Given the description of an element on the screen output the (x, y) to click on. 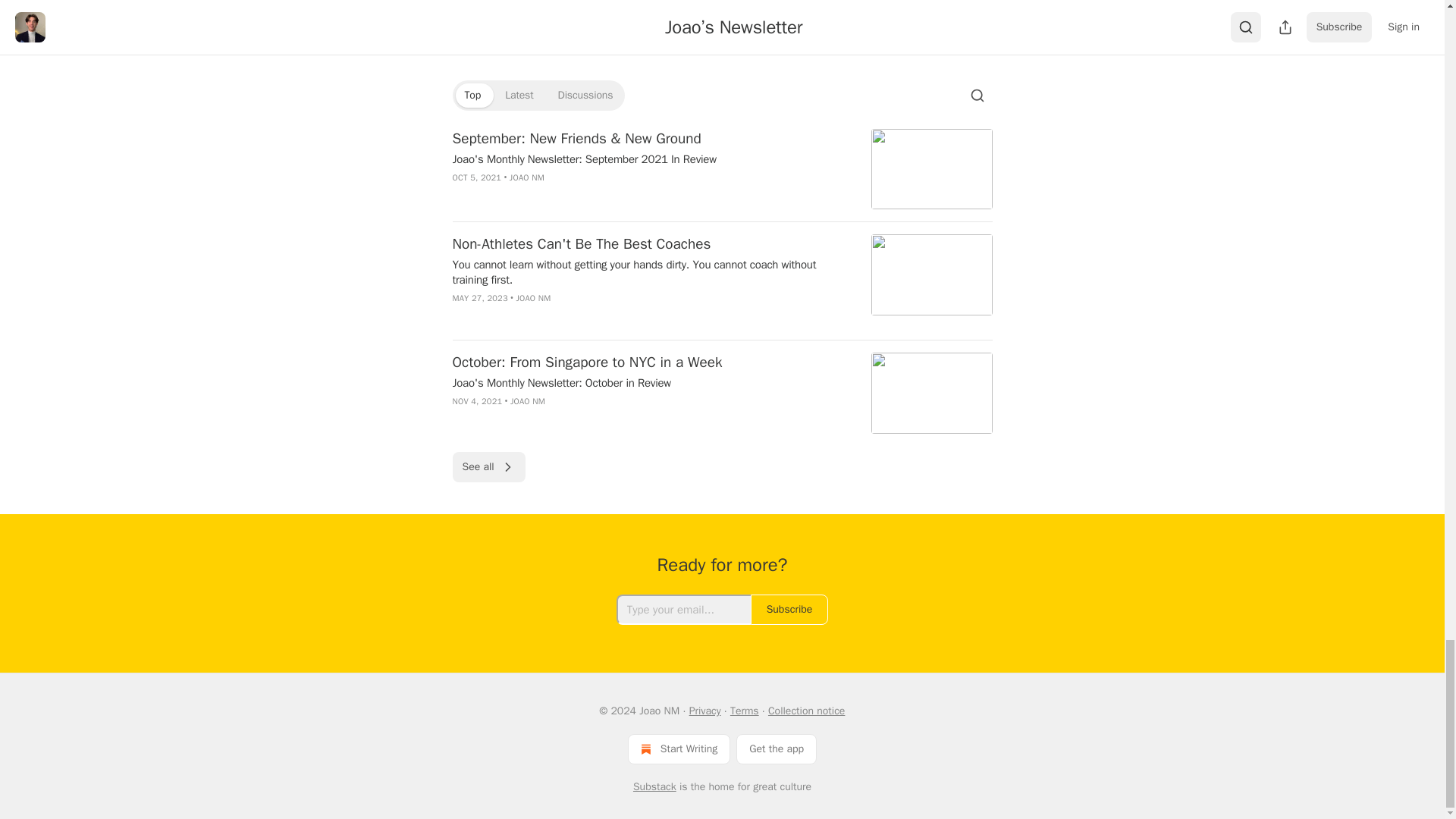
Discussions (585, 95)
Latest (518, 95)
Top (471, 95)
